Given the description of an element on the screen output the (x, y) to click on. 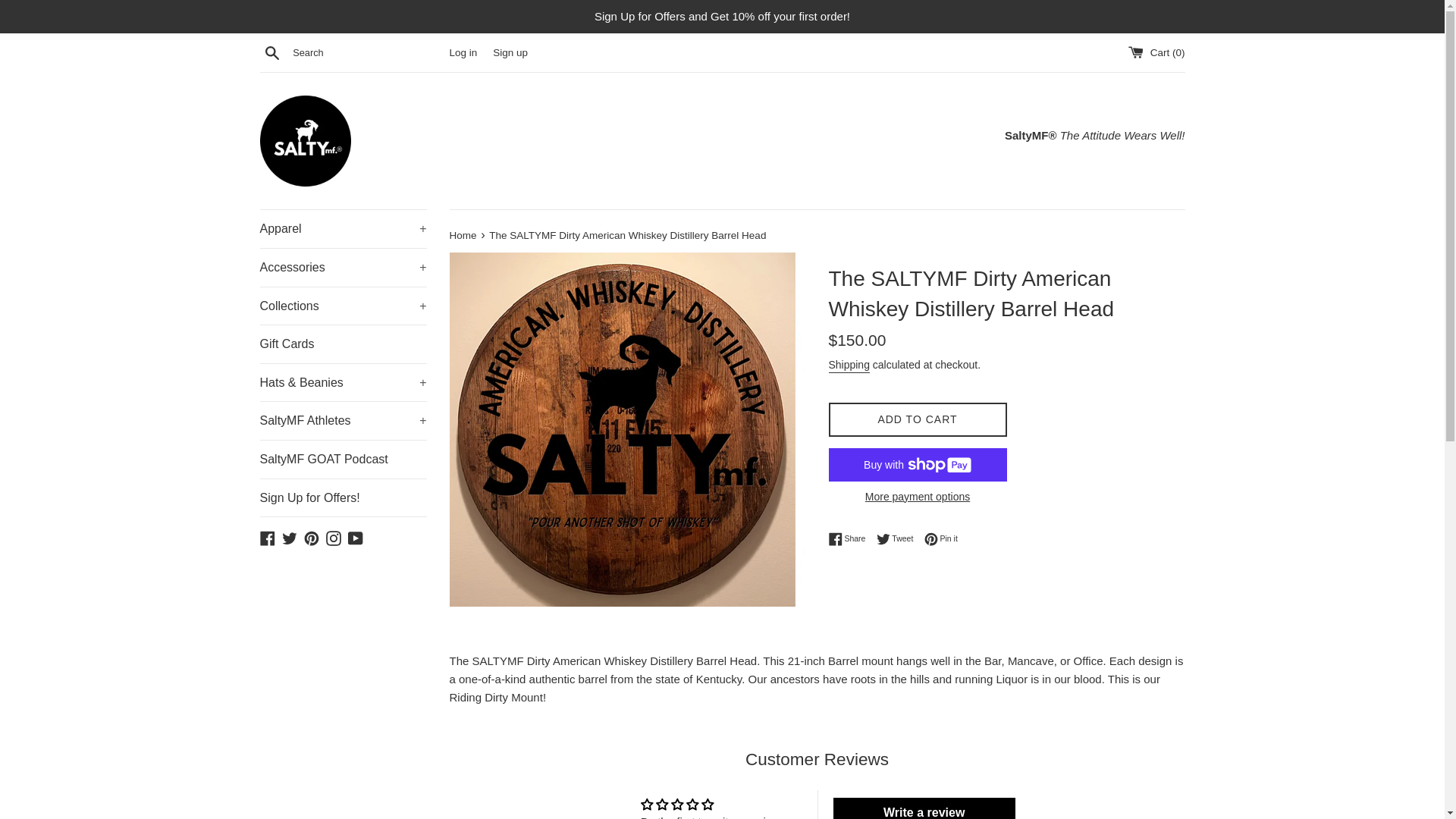
Search (271, 52)
Share on Facebook (850, 539)
SALTYmf on YouTube (354, 536)
SALTYmf on Pinterest (311, 536)
Back to the frontpage (463, 235)
SALTYmf on Facebook (267, 536)
Tweet on Twitter (898, 539)
SALTYmf on Instagram (333, 536)
Sign up (510, 52)
Log in (462, 52)
Pin on Pinterest (941, 539)
SALTYmf on Twitter (289, 536)
